Given the description of an element on the screen output the (x, y) to click on. 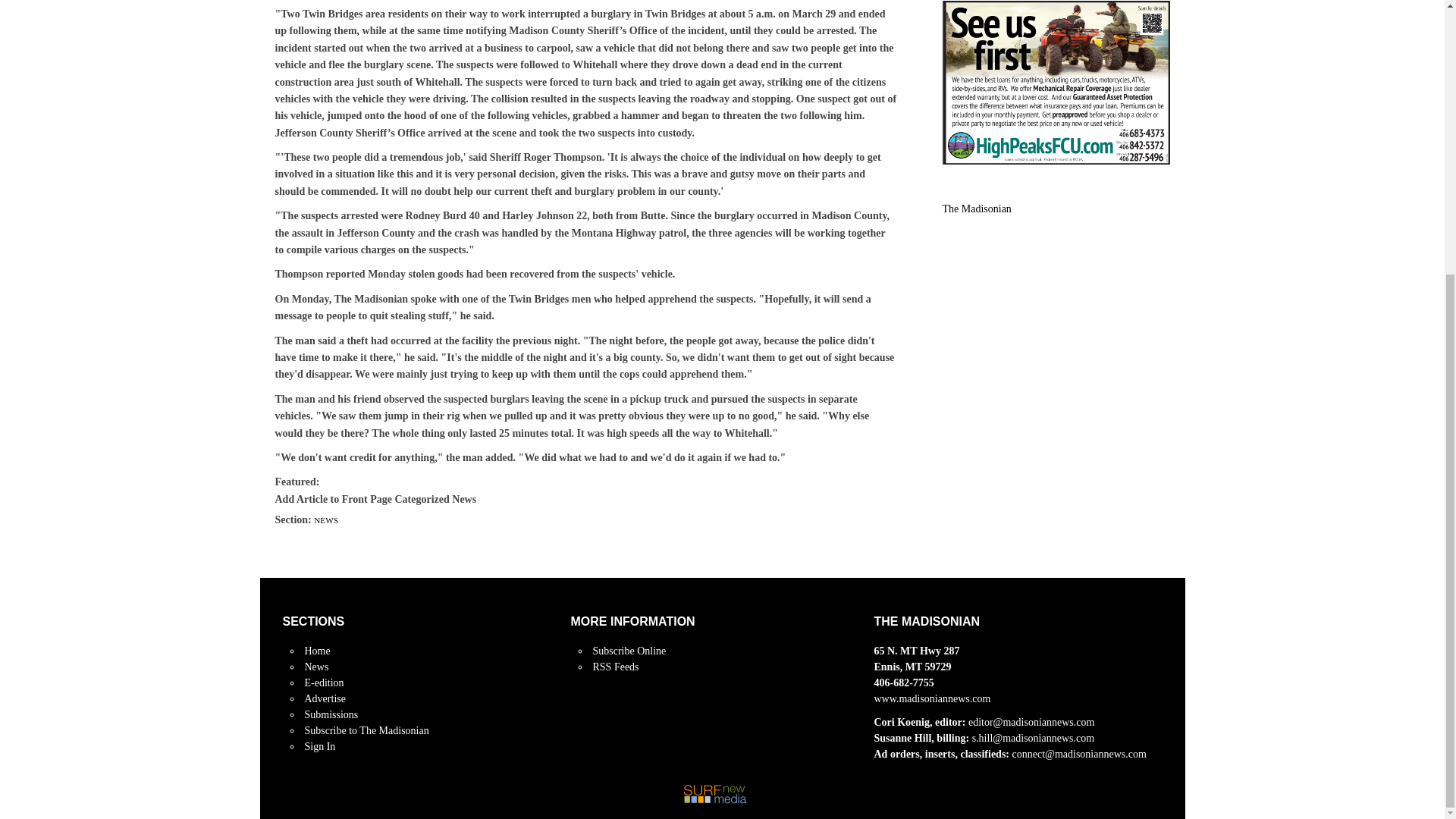
News (316, 666)
NEWS (325, 519)
News (316, 666)
Sign In (320, 746)
The Madisonian (976, 208)
Submissions (331, 714)
Home (317, 650)
Advertise (325, 698)
Subscribe to The Madisonian (366, 730)
E-edition (323, 682)
